Given the description of an element on the screen output the (x, y) to click on. 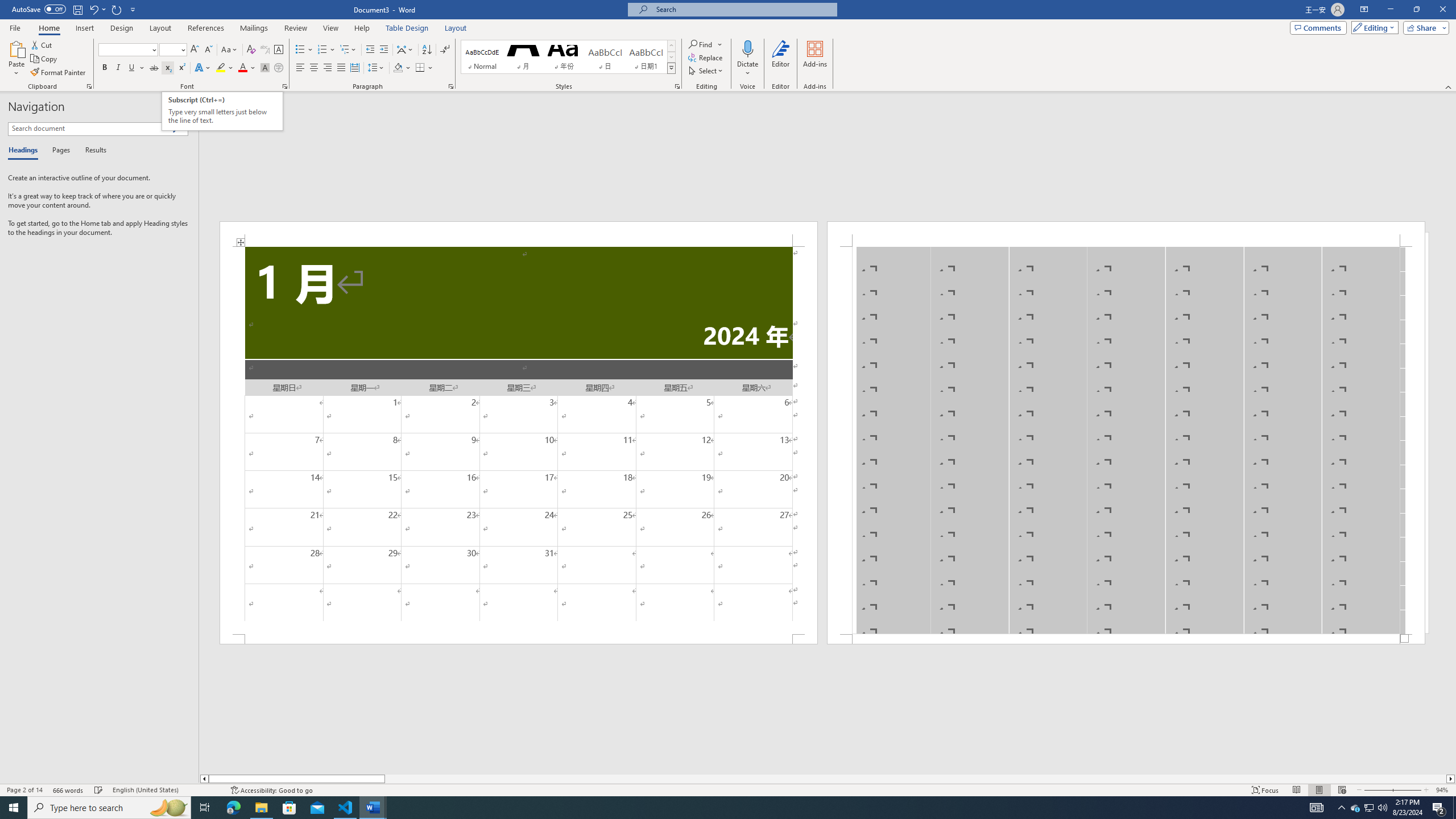
Text Highlight Color (224, 67)
Grow Font (193, 49)
Show/Hide Editing Marks (444, 49)
Change Case (229, 49)
Class: NetUIScrollBar (827, 778)
Shrink Font (208, 49)
Line and Paragraph Spacing (376, 67)
Asian Layout (405, 49)
